Given the description of an element on the screen output the (x, y) to click on. 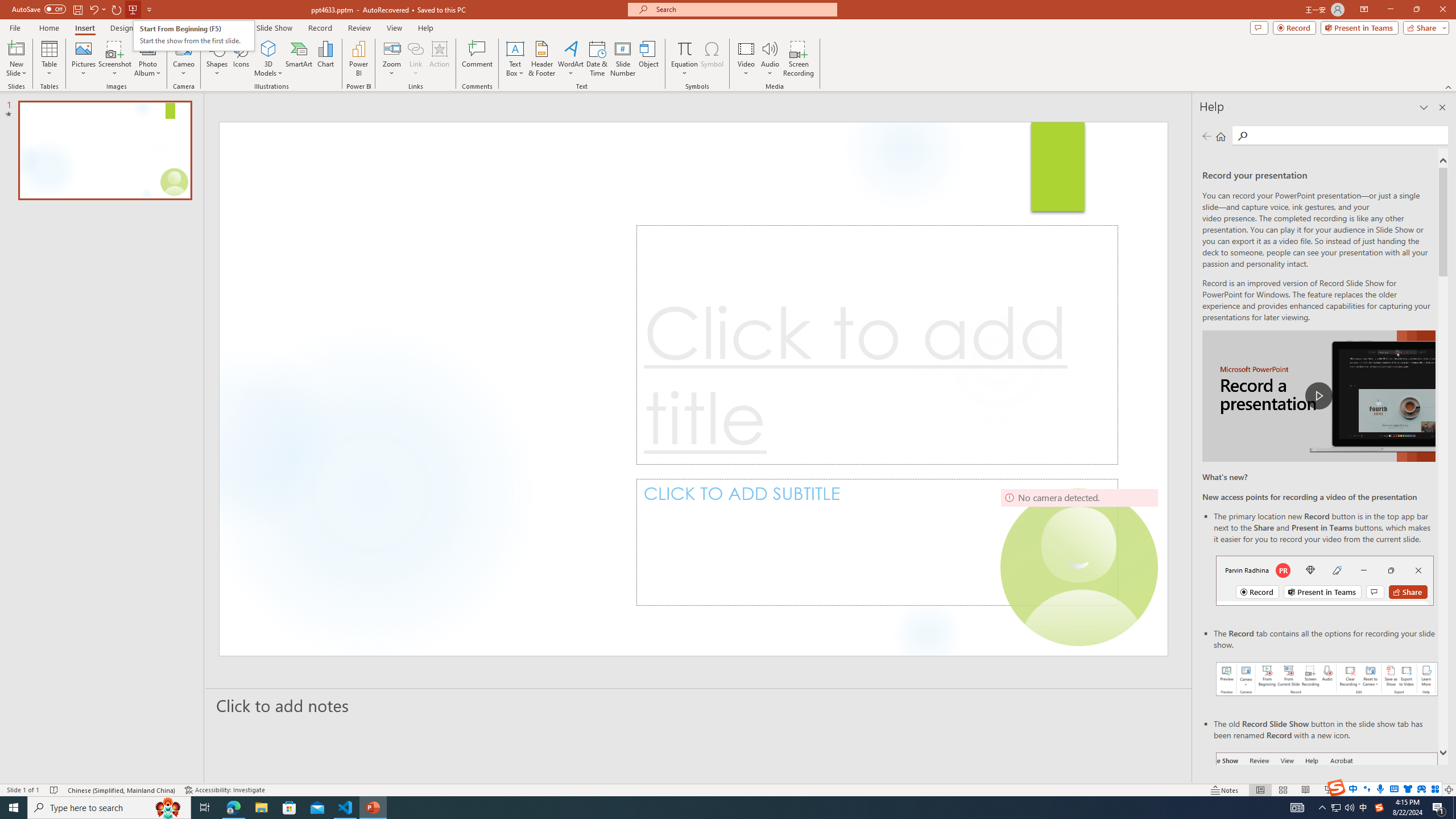
New Photo Album... (147, 48)
Power BI (358, 58)
